Given the description of an element on the screen output the (x, y) to click on. 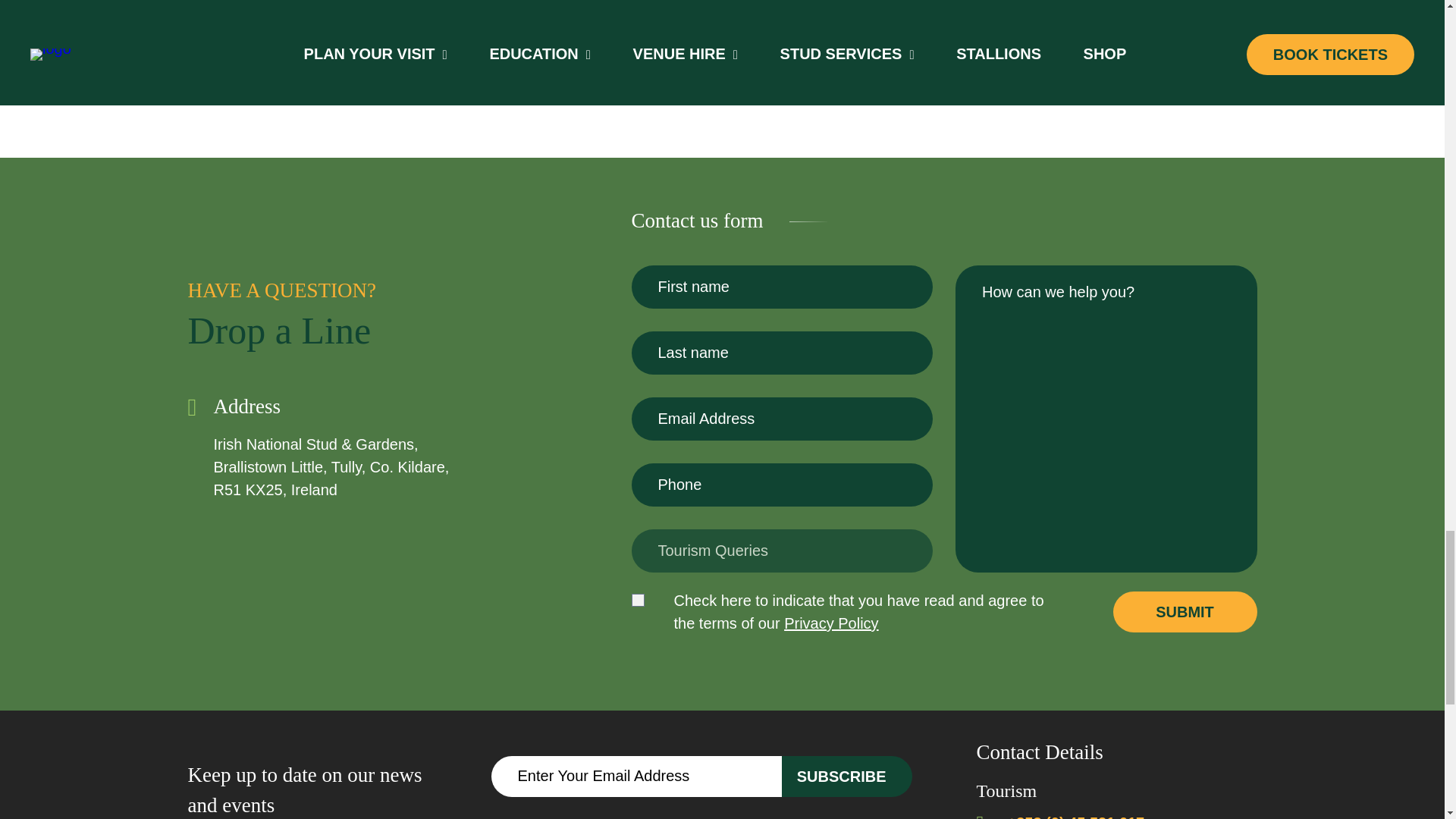
Privacy Policy (830, 622)
Submit (1185, 611)
Submit (1185, 611)
Subscribe (846, 775)
